Given the description of an element on the screen output the (x, y) to click on. 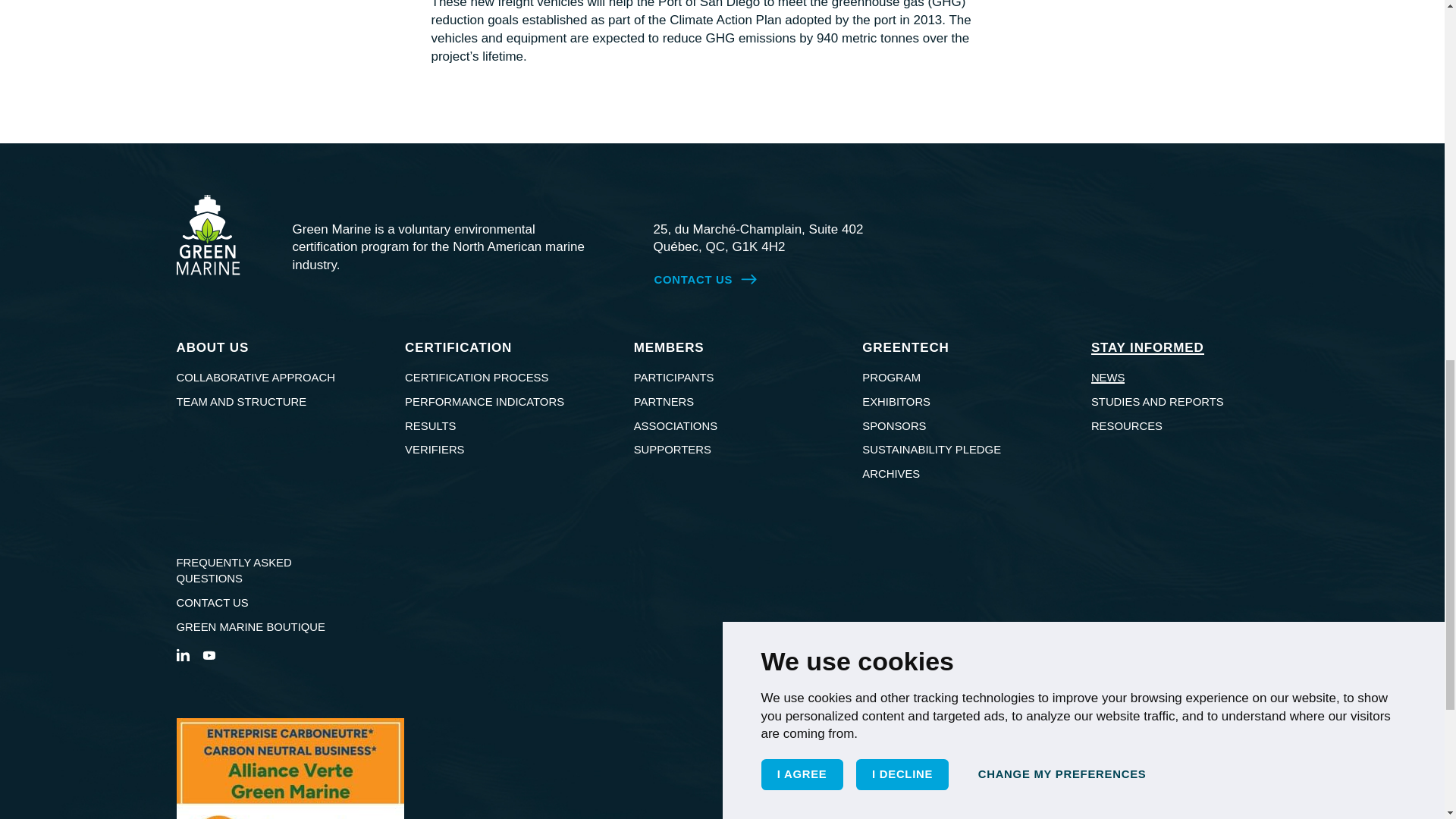
LinkedIn (182, 654)
YouTube (208, 654)
